Given the description of an element on the screen output the (x, y) to click on. 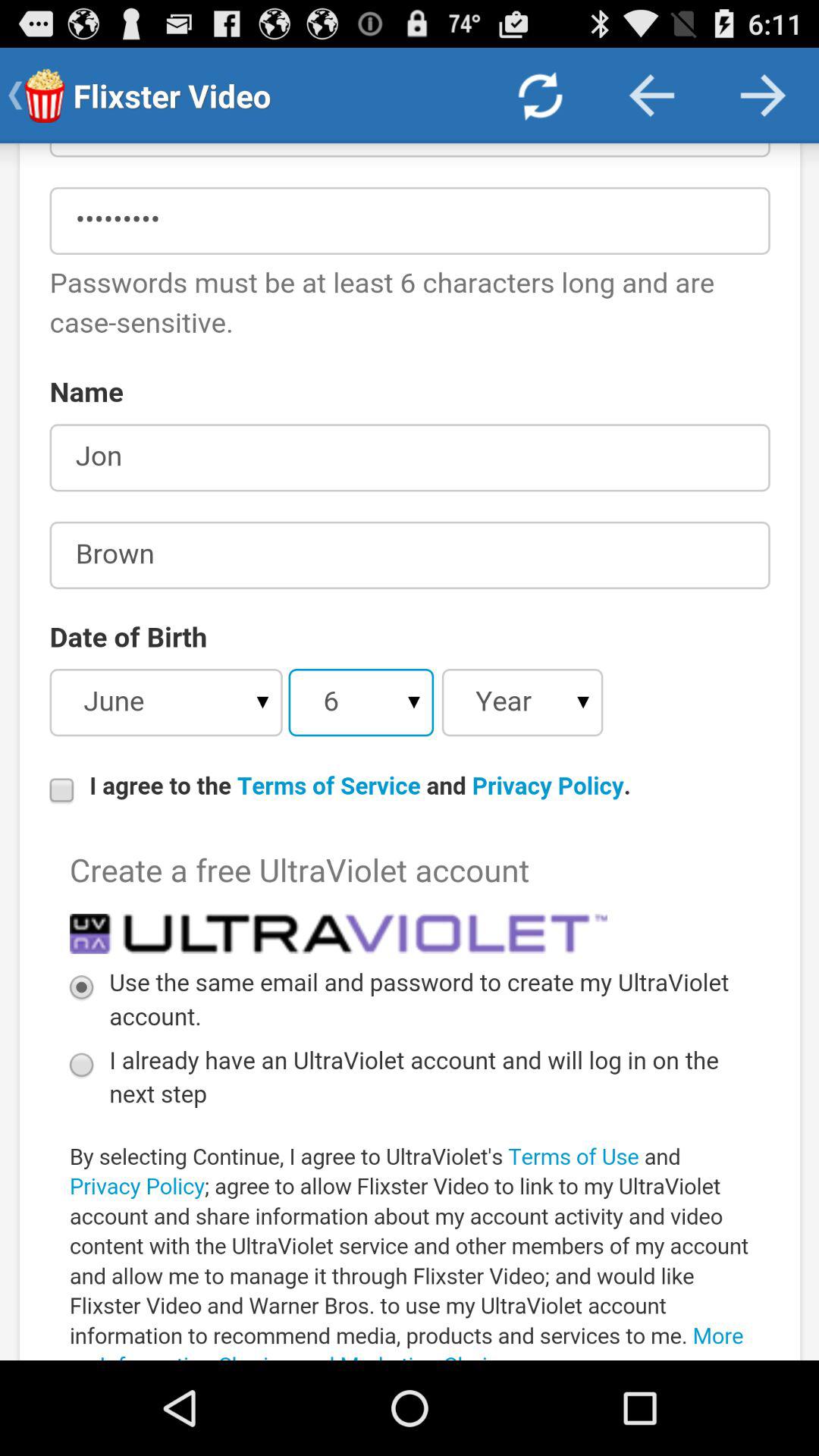
create account (409, 751)
